Given the description of an element on the screen output the (x, y) to click on. 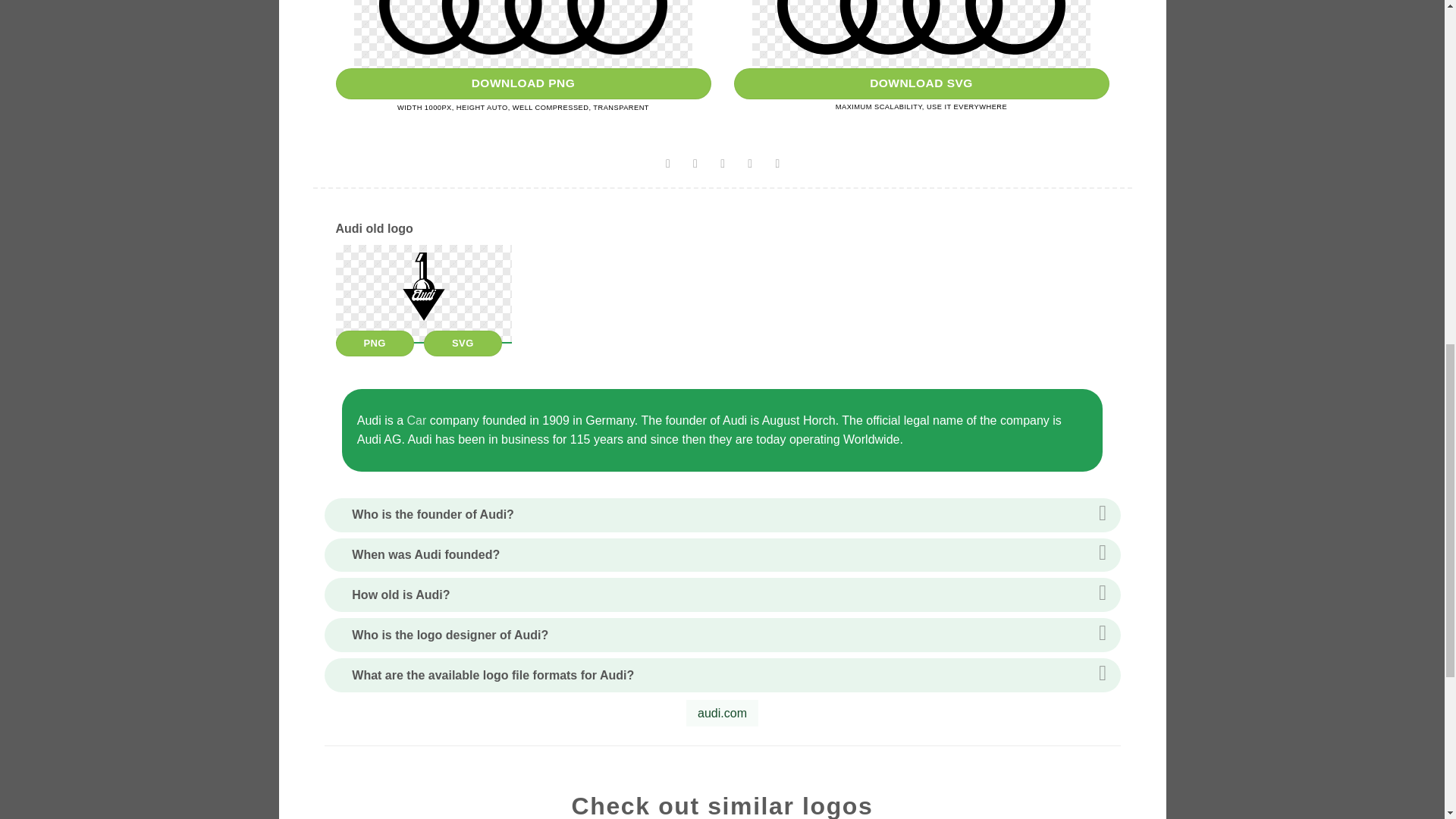
DOWNLOAD PNG (522, 83)
Car (416, 420)
audi.com (721, 713)
Audi logo PNG download (522, 83)
Audi old logo PNG (373, 343)
PNG (373, 343)
SVG (462, 343)
Audi old logo SVG (462, 343)
